Given the description of an element on the screen output the (x, y) to click on. 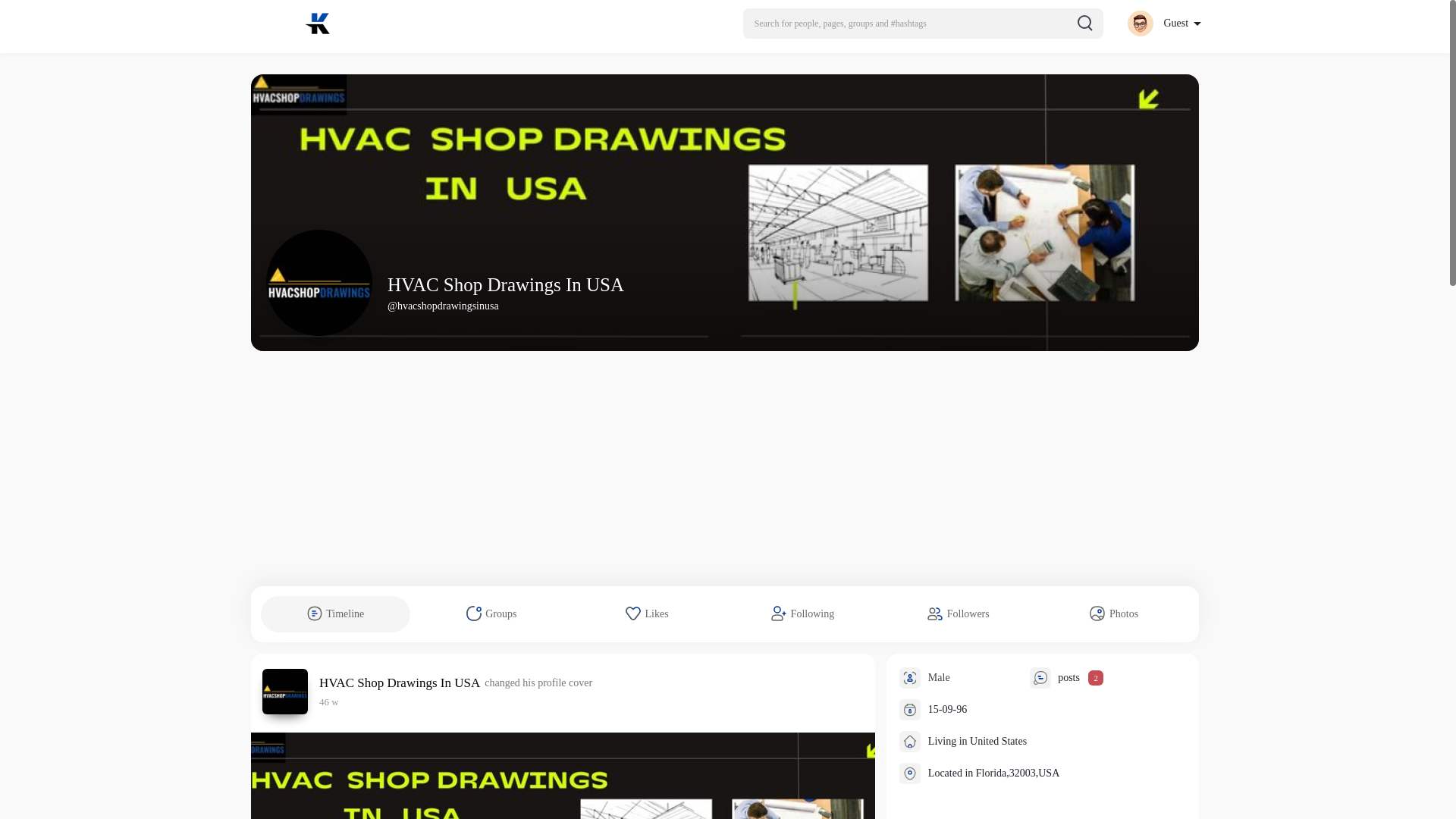
Timeline (335, 614)
46 w (328, 701)
HVAC Shop Drawings In USA (505, 284)
HVAC Shop Drawings In USA (401, 682)
Groups (491, 614)
Likes (647, 614)
Guest (1163, 23)
Followers (957, 614)
Photos (1114, 614)
